Given the description of an element on the screen output the (x, y) to click on. 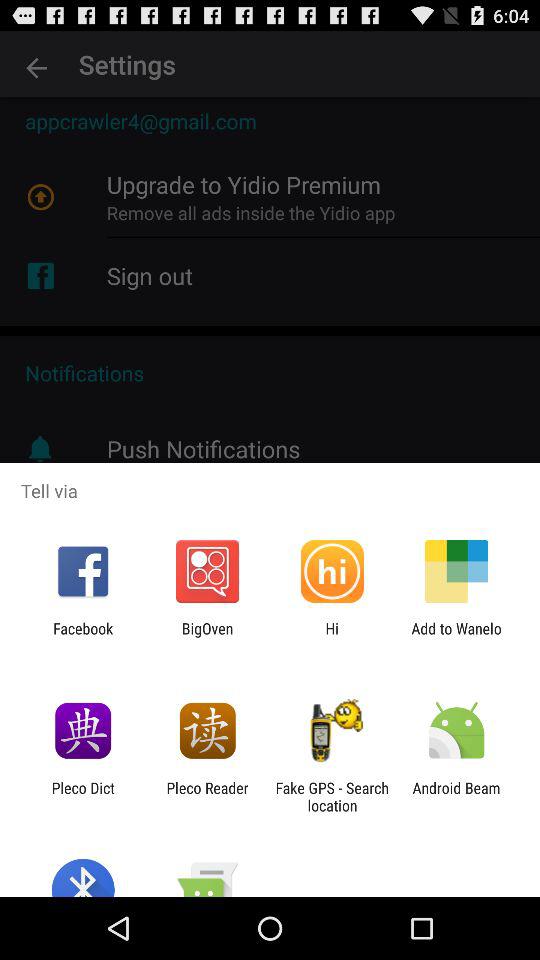
click hi icon (331, 637)
